Given the description of an element on the screen output the (x, y) to click on. 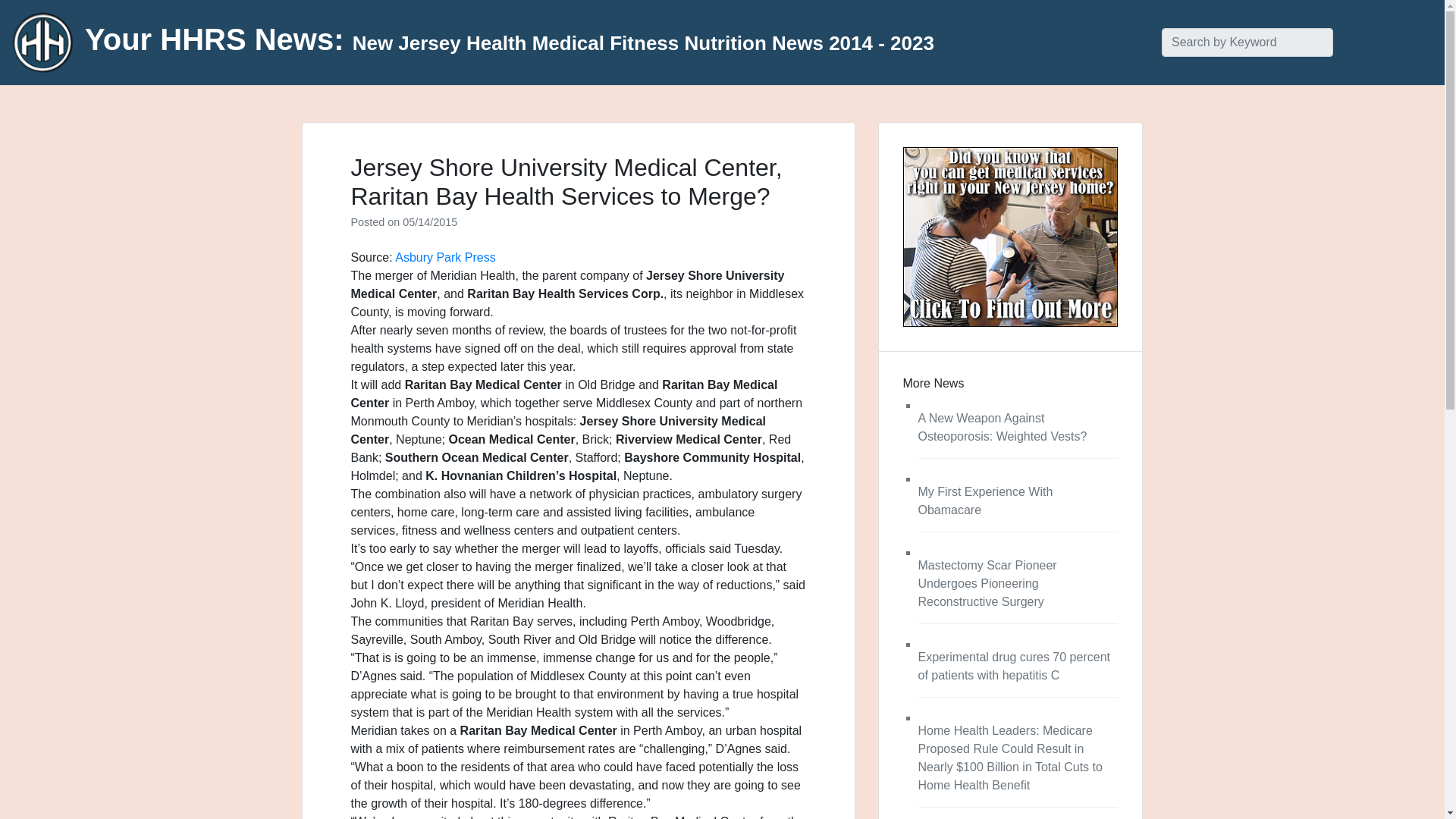
Asbury Park Press (444, 256)
My First Experience With Obamacare (984, 500)
A New Weapon Against Osteoporosis: Weighted Vests? (1001, 427)
